Given the description of an element on the screen output the (x, y) to click on. 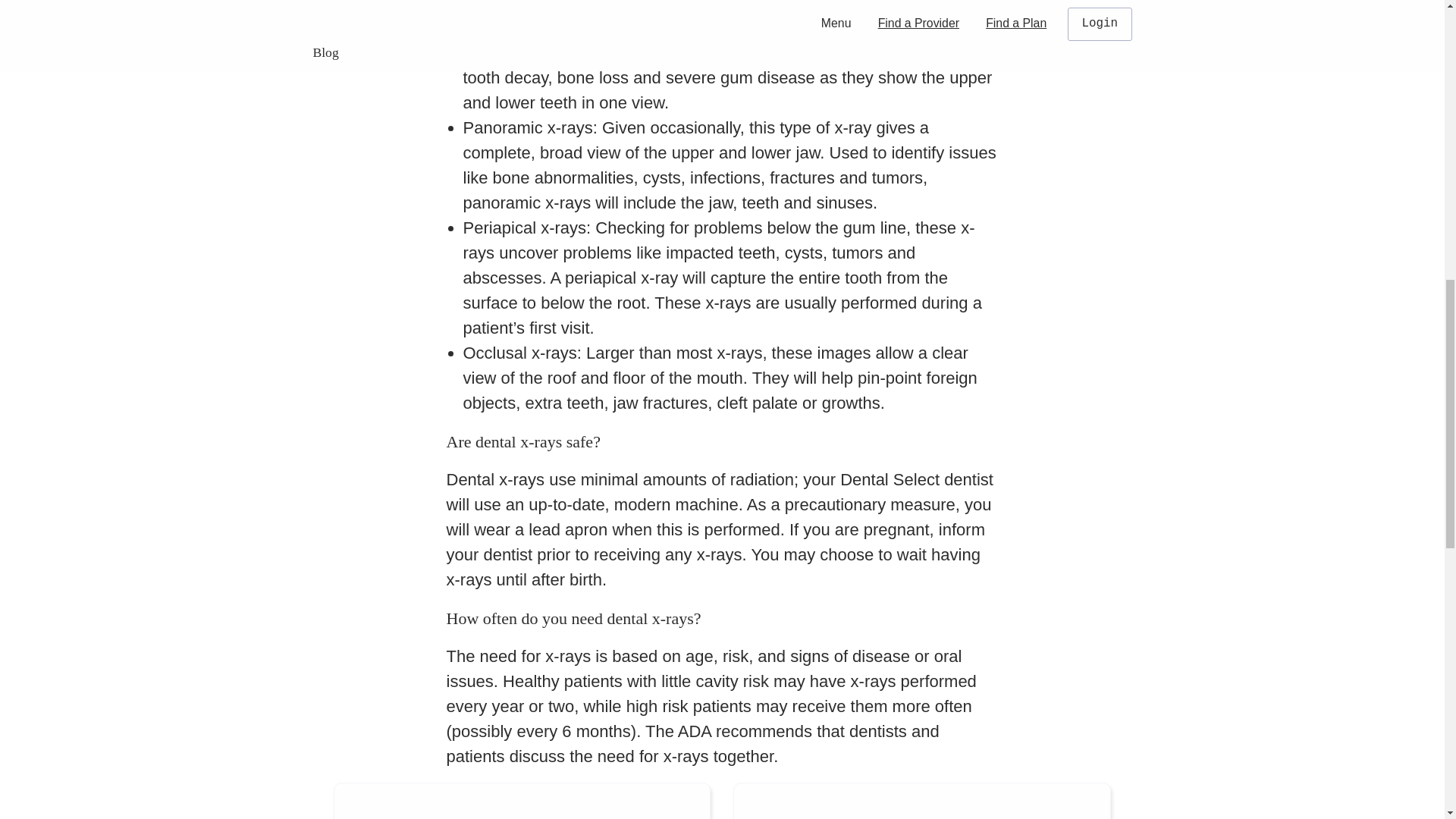
5 Individual Groups Who Need Dental Benefits (921, 800)
Dental Select's Open House (522, 800)
	Dental Select's Open House (522, 800)
5 Individual Groups Who Need Dental Benefits (921, 800)
